Given the description of an element on the screen output the (x, y) to click on. 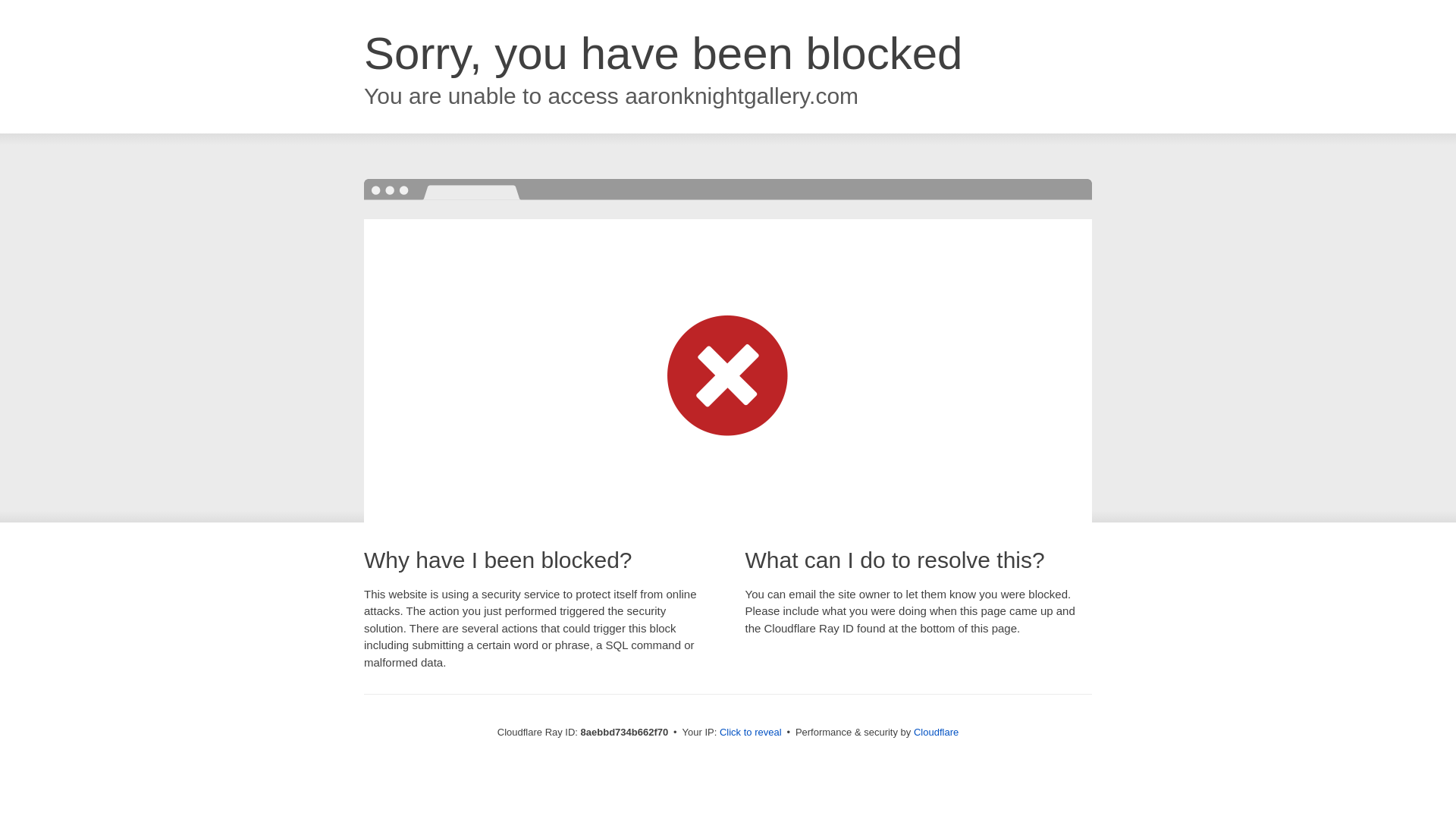
Cloudflare (936, 731)
Click to reveal (750, 732)
